Given the description of an element on the screen output the (x, y) to click on. 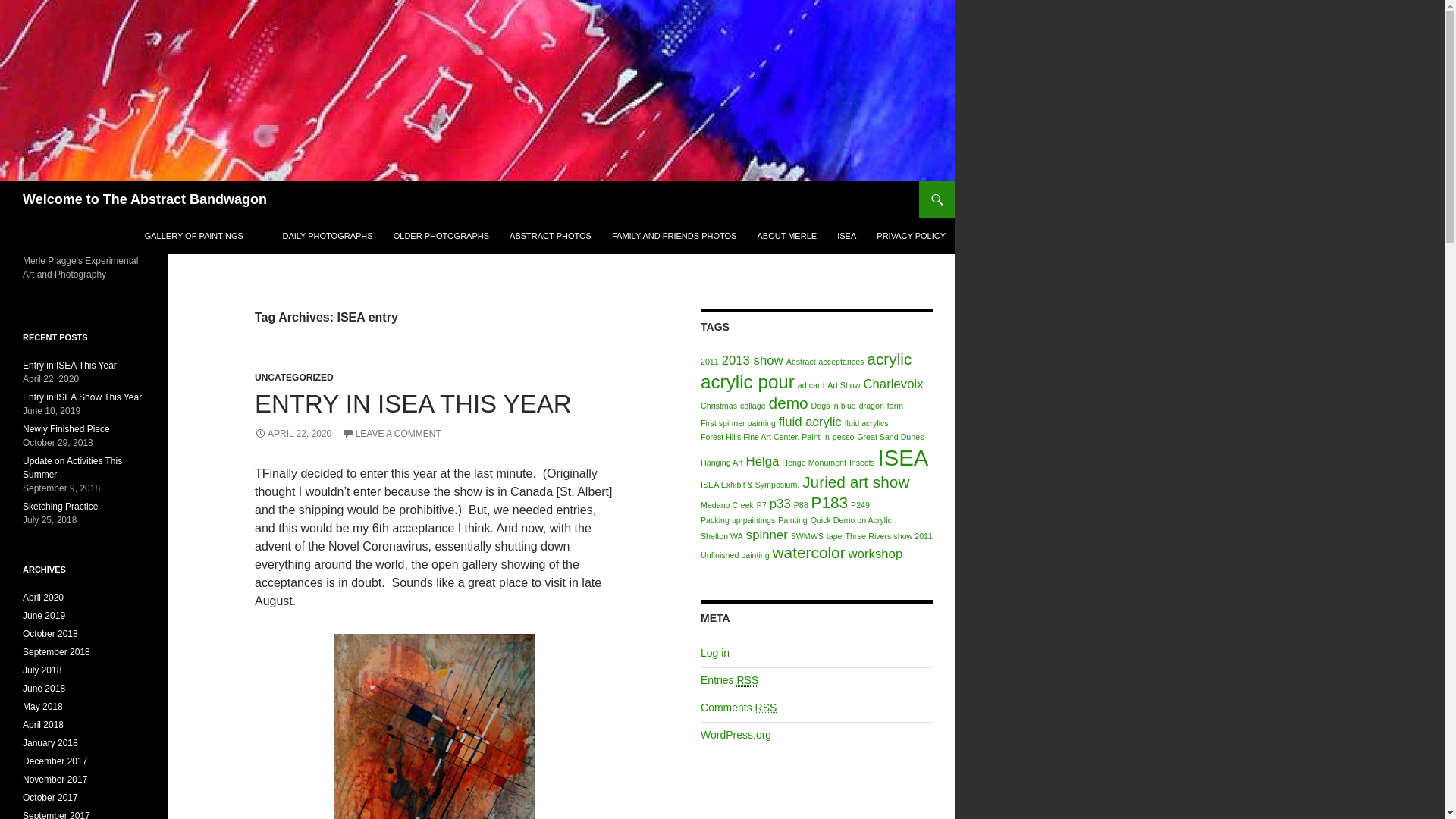
ad card (811, 384)
Christmas (718, 405)
acrylic (888, 358)
acrylic pour (747, 381)
APRIL 22, 2020 (292, 433)
collage (752, 405)
Art Show (843, 384)
fluid acrylics (866, 422)
2011 (709, 361)
demo (788, 402)
gesso (842, 436)
First spinner painting (738, 422)
ENTRY IN ISEA THIS YEAR (413, 403)
PRIVACY POLICY (911, 235)
